Given the description of an element on the screen output the (x, y) to click on. 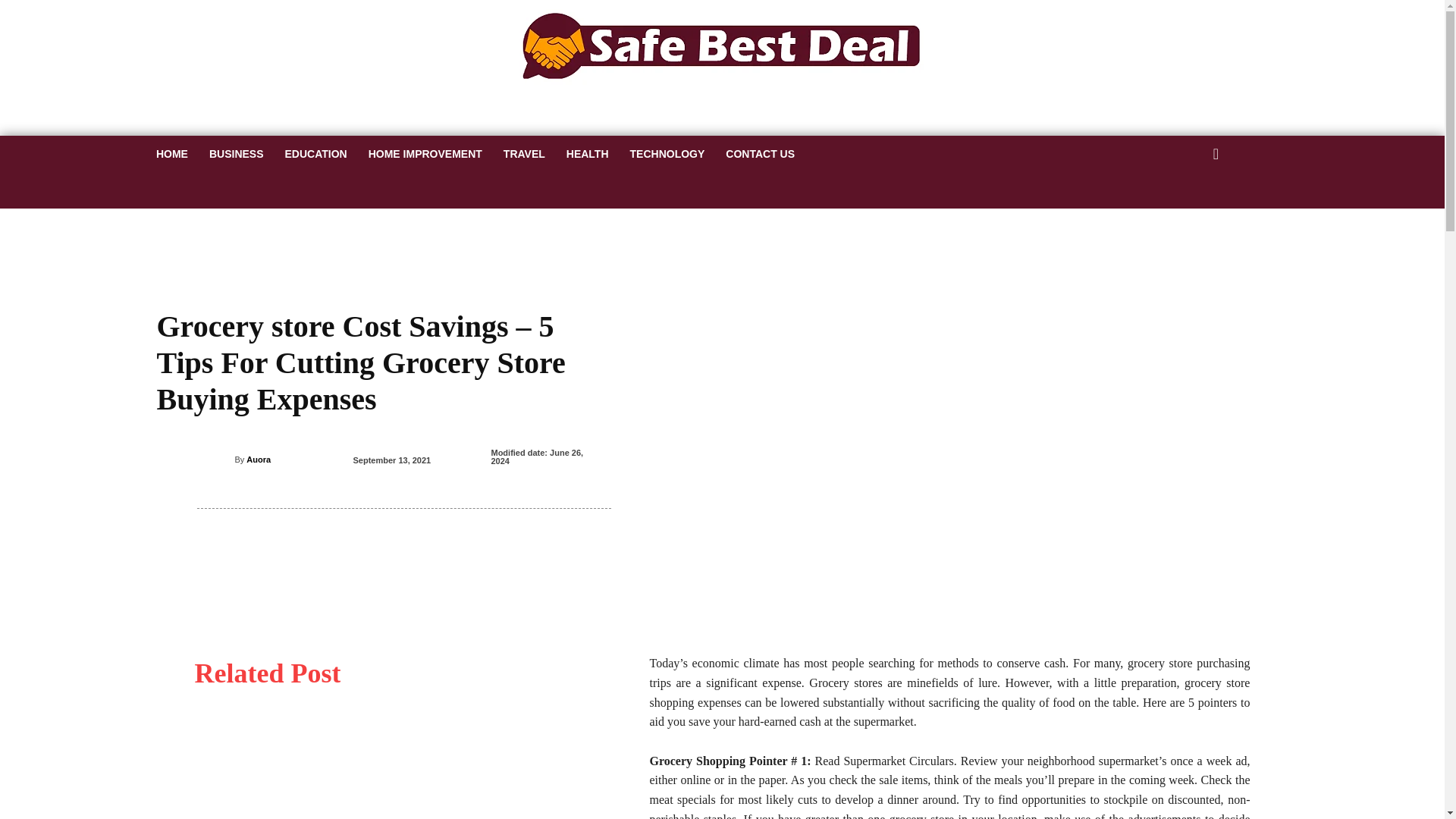
TRAVEL (524, 153)
CONTACT US (759, 153)
TECHNOLOGY (668, 153)
HOME (171, 153)
BUSINESS (236, 153)
Auora (258, 458)
HOME IMPROVEMENT (425, 153)
EDUCATION (316, 153)
Auora (224, 459)
HEALTH (588, 153)
